Given the description of an element on the screen output the (x, y) to click on. 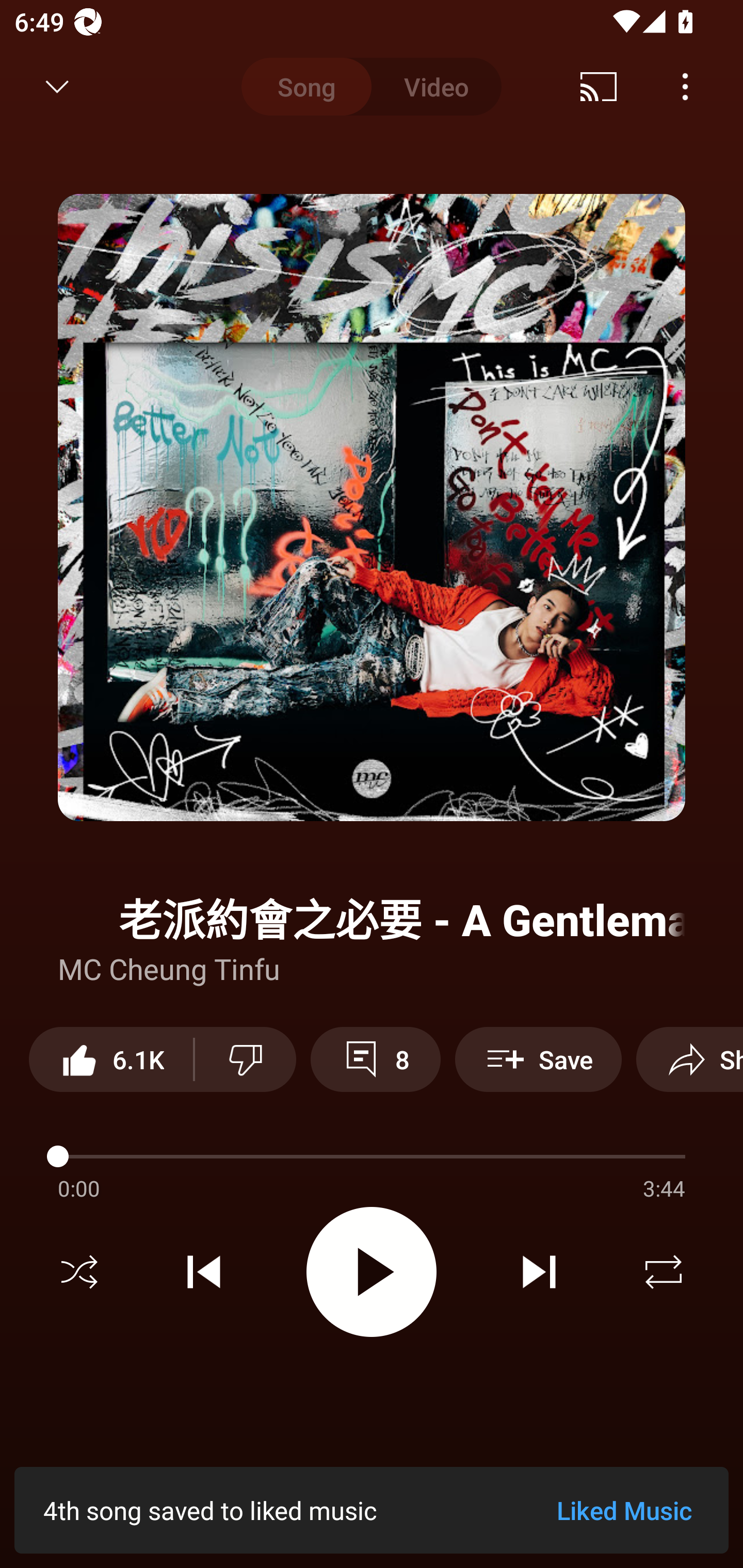
Minimize (57, 86)
Cast. Disconnected (598, 86)
Menu (684, 86)
6.1K like this video along with 6,123 other people (110, 1059)
Dislike (245, 1059)
8 View 8 comments (375, 1059)
Save Save to playlist (537, 1059)
Share (689, 1059)
Play video (371, 1272)
Shuffle off (79, 1272)
Previous track (203, 1272)
Next track (538, 1272)
Repeat off (663, 1272)
Liked Music (624, 1510)
